Given the description of an element on the screen output the (x, y) to click on. 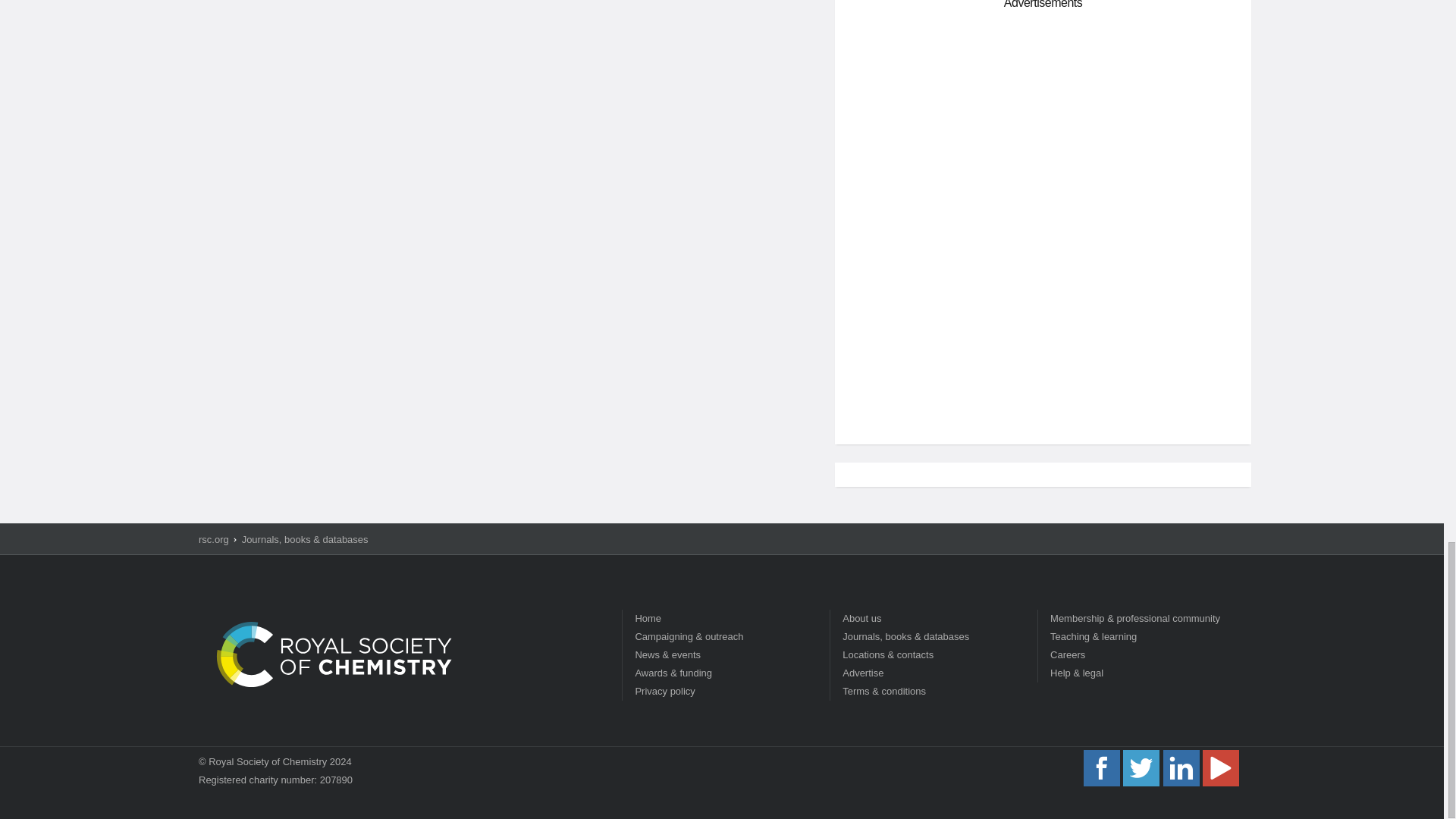
3rd party ad content (1043, 123)
3rd party ad content (1043, 325)
